Given the description of an element on the screen output the (x, y) to click on. 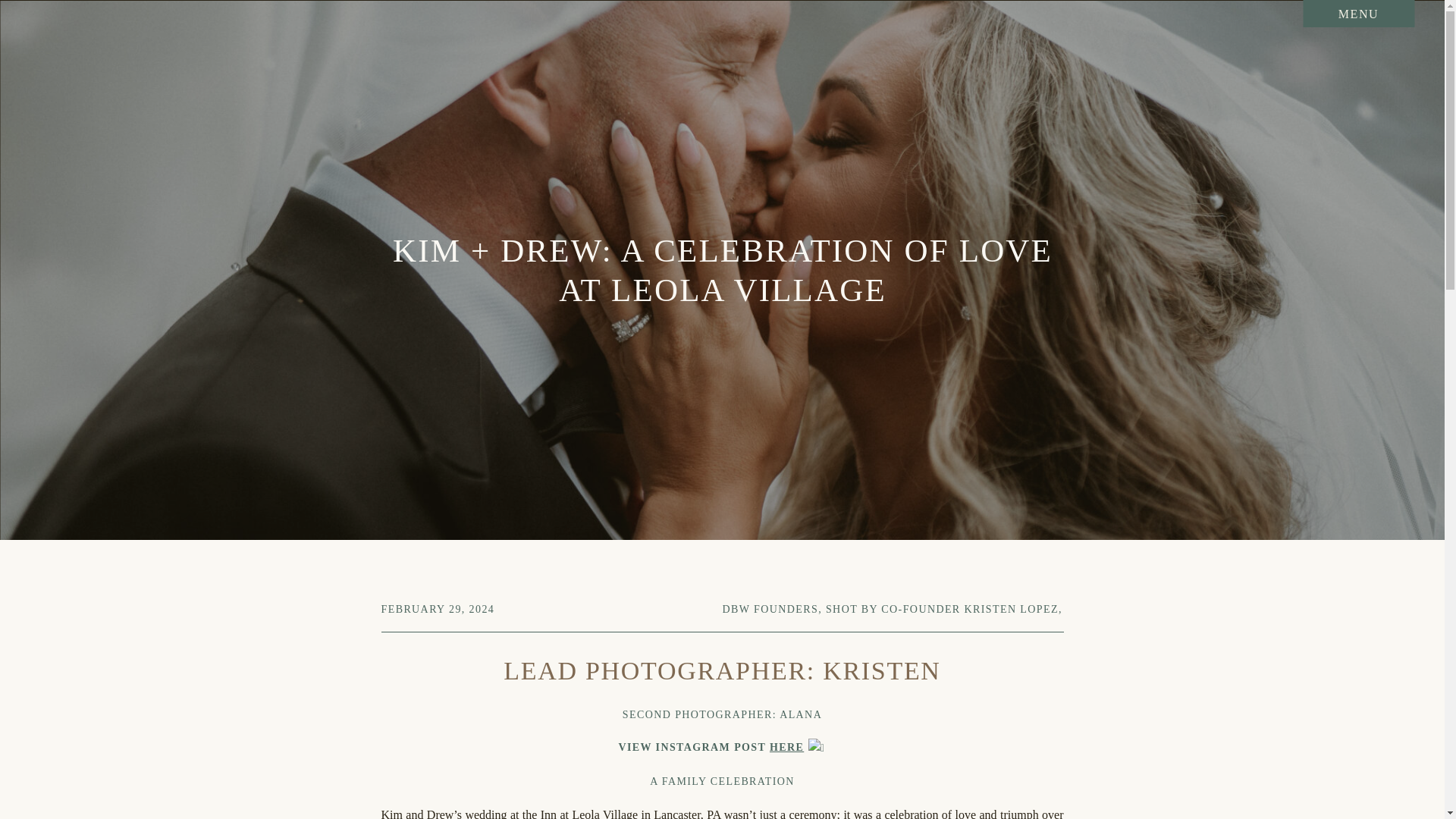
DBW FOUNDERS (770, 609)
SHOT BY CO-FOUNDER KRISTEN LOPEZ (941, 609)
HERE (786, 747)
